Given the description of an element on the screen output the (x, y) to click on. 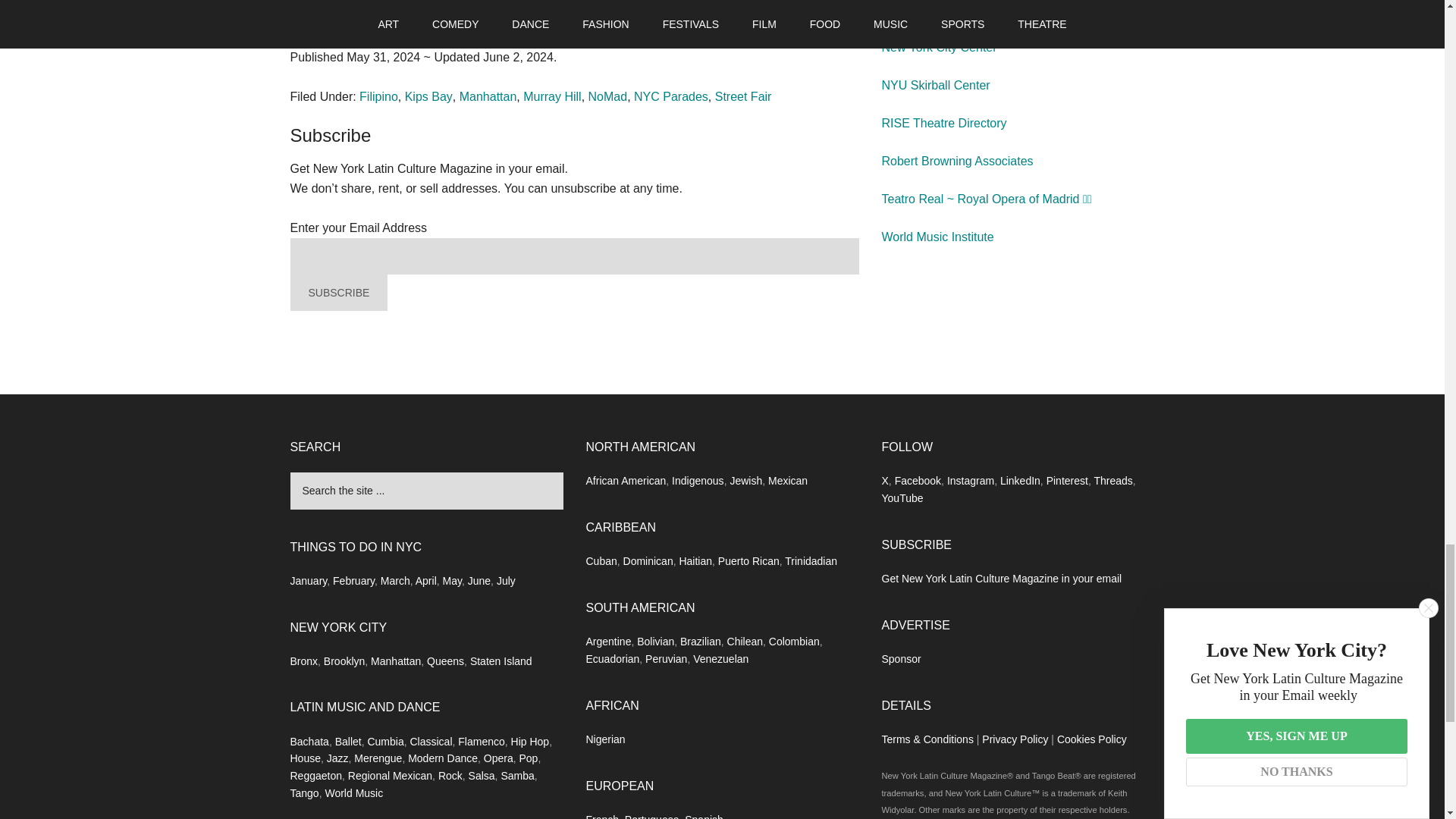
Subscribe (338, 292)
Subscribe (330, 135)
NoMad (607, 96)
Street Fair (742, 96)
Murray Hill (551, 96)
Kips Bay (428, 96)
NYC Parades (670, 96)
Filipino (378, 96)
Manhattan (488, 96)
Subscribe (338, 292)
